Given the description of an element on the screen output the (x, y) to click on. 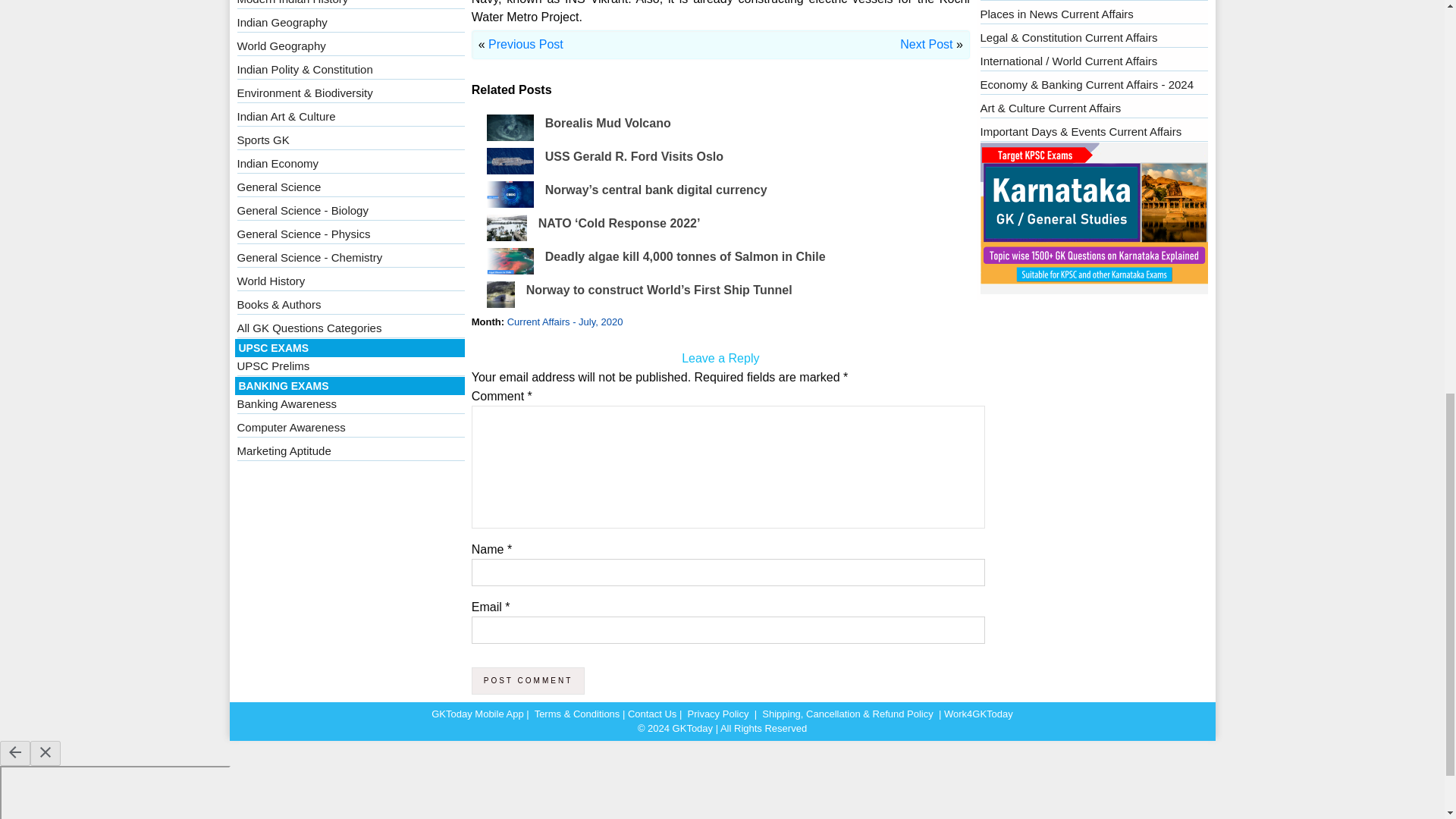
Deadly algae kill 4,000 tonnes of Salmon in Chile (684, 256)
Next Post (925, 43)
Post Comment (528, 680)
Deadly algae kill 4,000 tonnes of Salmon in Chile (684, 256)
USS Gerald R. Ford Visits Oslo (633, 155)
Borealis Mud Volcano (607, 123)
Post Comment (528, 680)
USS Gerald R. Ford Visits Oslo (633, 155)
Current Affairs - July, 2020 (564, 321)
Previous Post (525, 43)
Borealis Mud Volcano (607, 123)
